Given the description of an element on the screen output the (x, y) to click on. 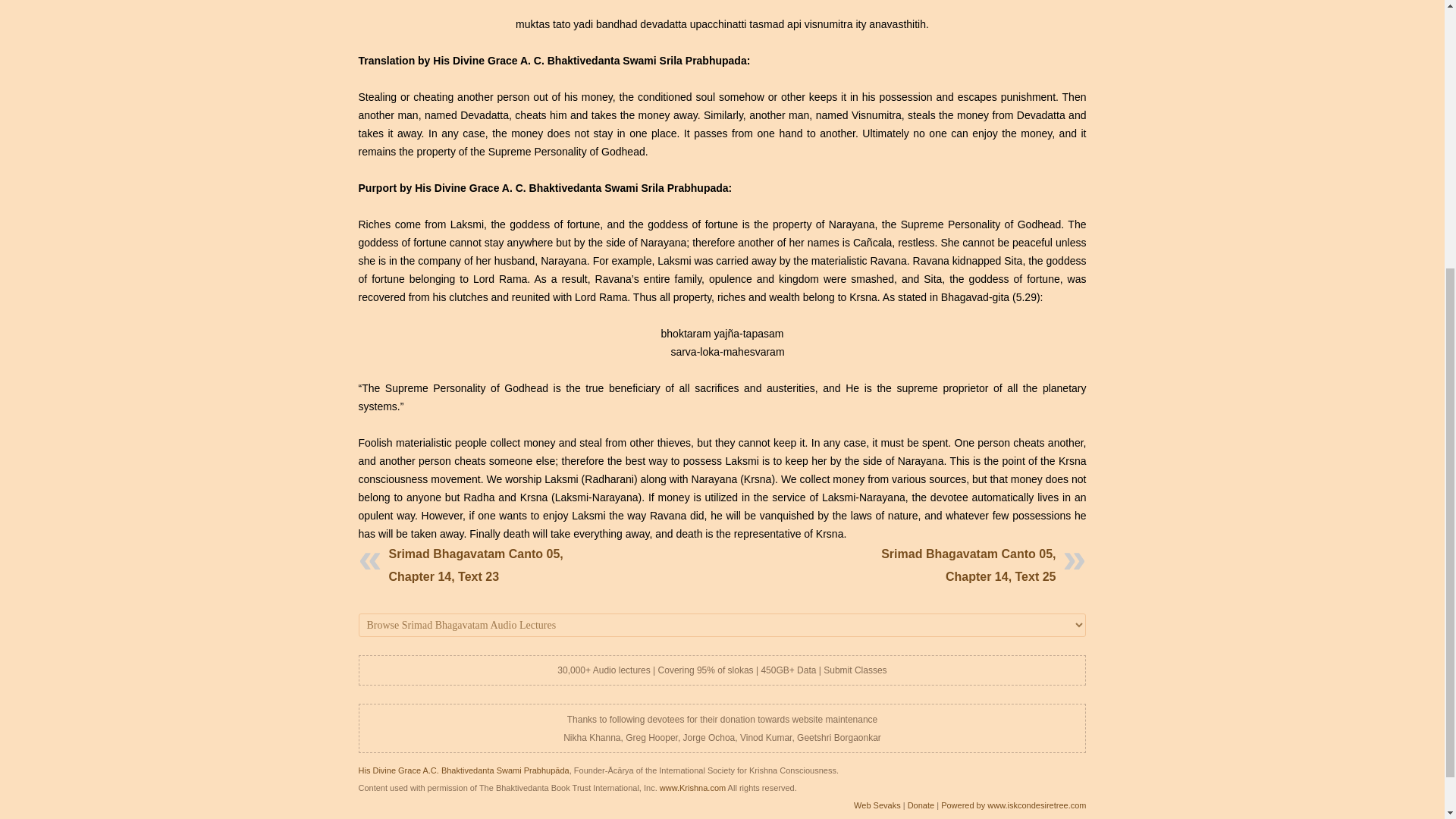
www.Krishna.com (692, 787)
Powered by www.iskcondesiretree.com (1013, 804)
Web Sevaks (877, 804)
Srimad Bhagavatam Canto 05, Chapter 14, Text 25 (967, 564)
Srimad Bhagavatam Canto 05, Chapter 14, Text 23 (475, 564)
Submit Classes (855, 670)
Donate (920, 804)
